Given the description of an element on the screen output the (x, y) to click on. 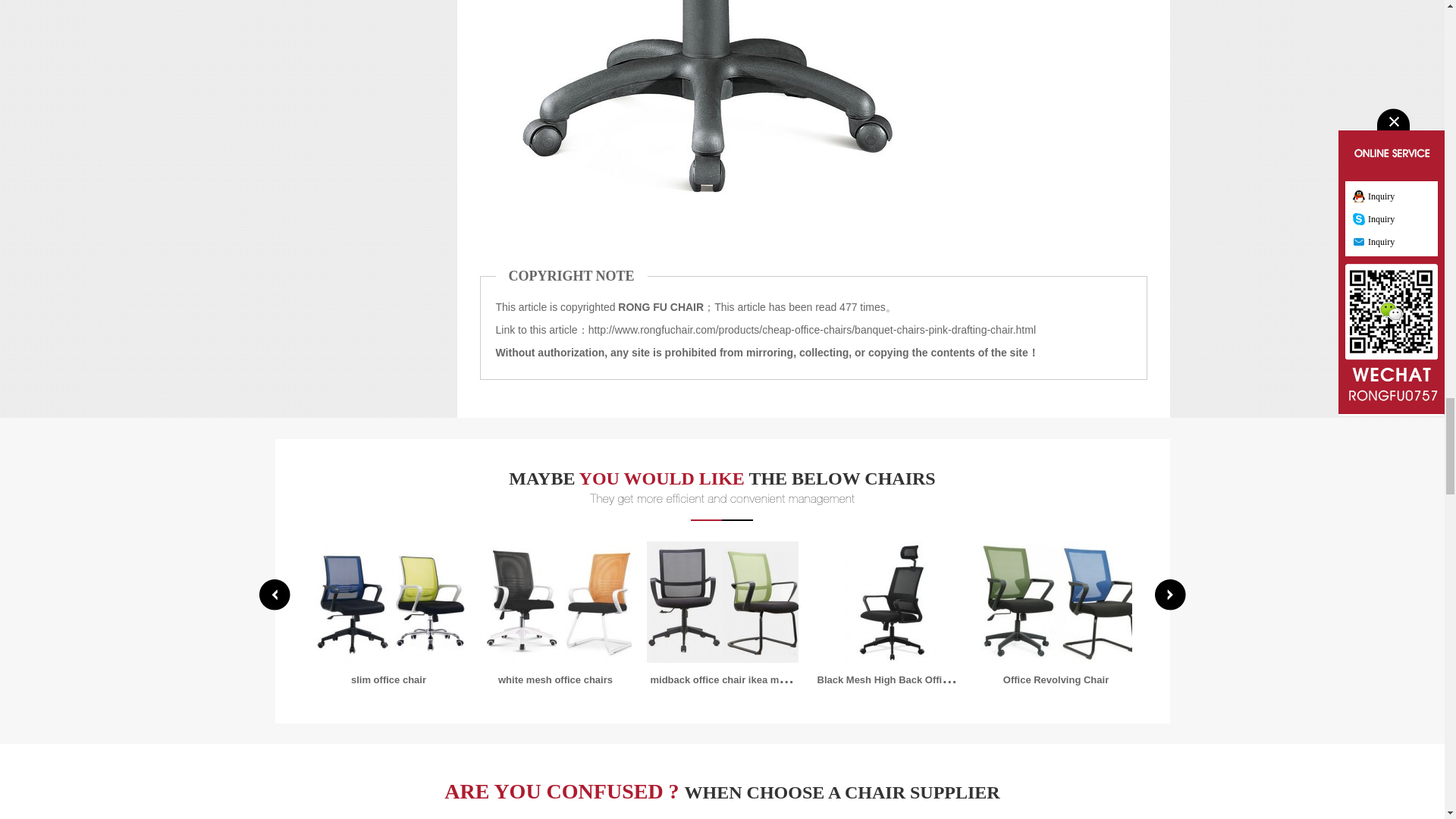
Black Mesh High Back Office Chair with Headrest (932, 677)
white mesh office chairs (554, 601)
Black Mesh High Back Office Chair with Headrest (887, 601)
Office Revolving Chair (1055, 601)
white mesh office chairs (554, 679)
slim office chair (388, 601)
midback office chair ikea mesh chair (721, 601)
midback office chair ikea mesh chair (736, 677)
slim office chair (388, 679)
Office Revolving Chair (1055, 679)
